Given the description of an element on the screen output the (x, y) to click on. 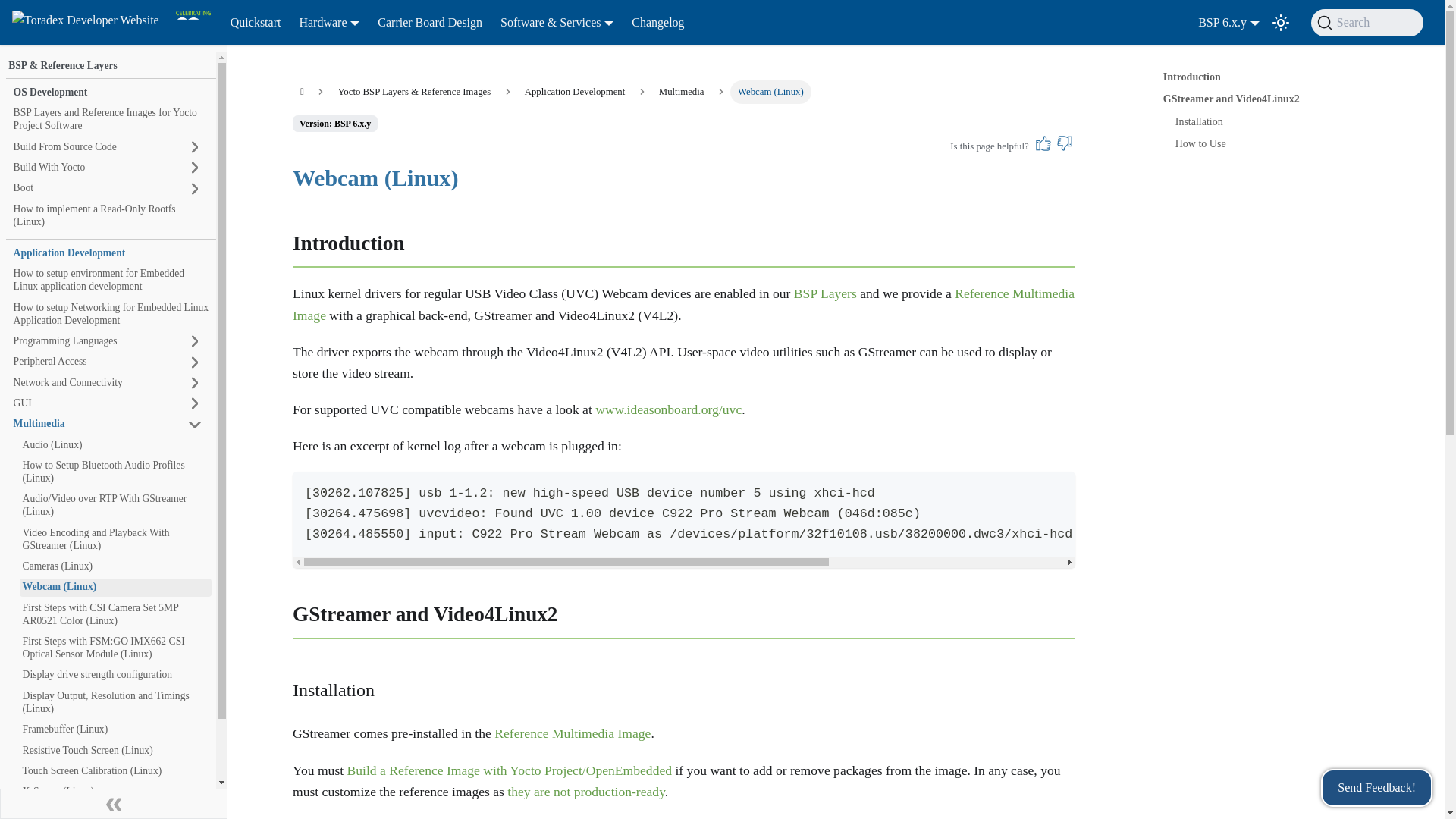
Collapse sidebar (113, 803)
Quickstart (255, 22)
Carrier Board Design (430, 22)
Hardware (328, 22)
